Given the description of an element on the screen output the (x, y) to click on. 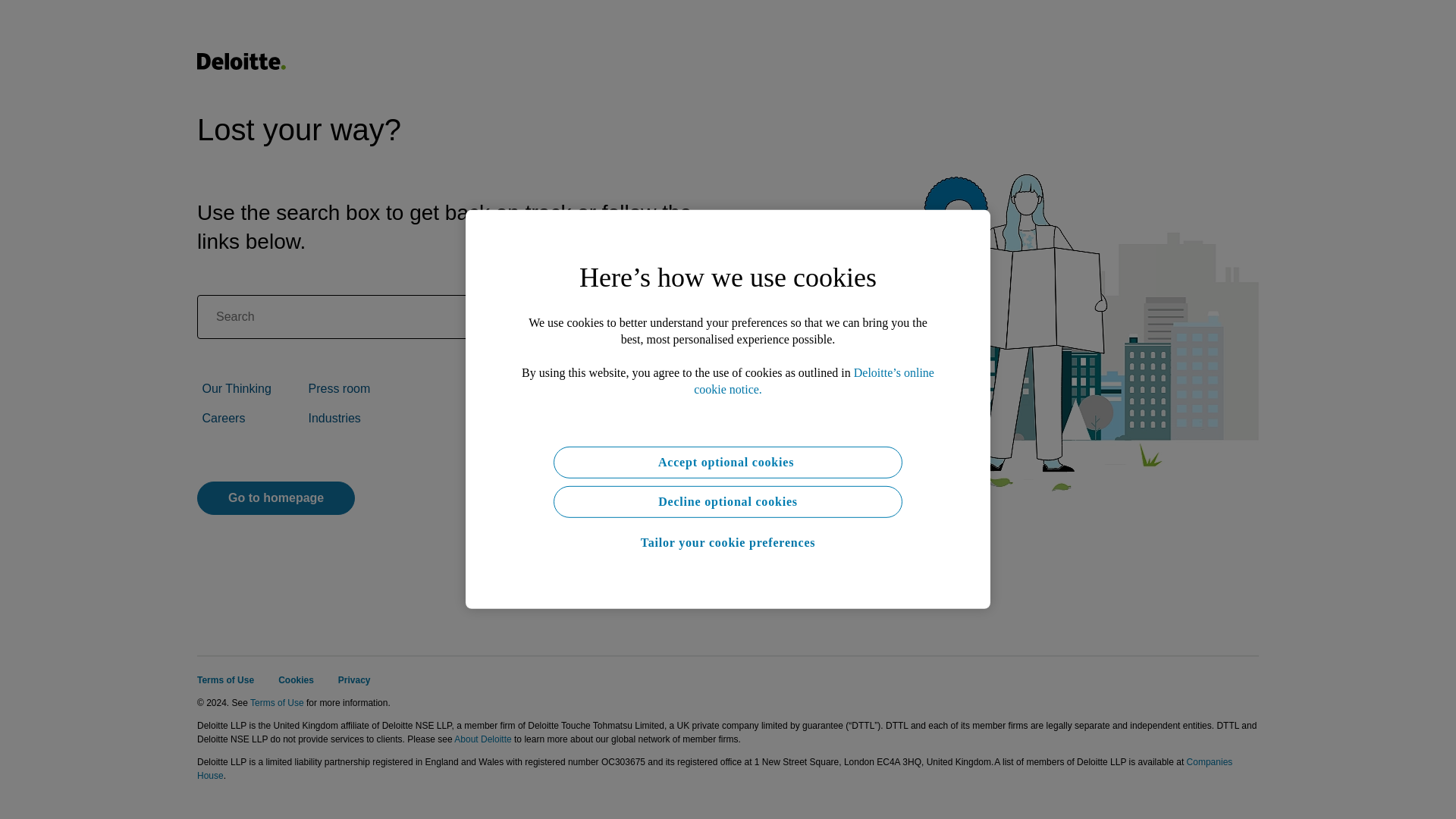
Terms of Use (277, 702)
Decline optional cookies (727, 501)
About Deloitte (482, 738)
Companies House (713, 768)
Press room (338, 388)
Accept optional cookies  (727, 462)
Careers (223, 418)
Go to homepage (275, 498)
Our Thinking (236, 388)
Terms of Use (224, 679)
